Given the description of an element on the screen output the (x, y) to click on. 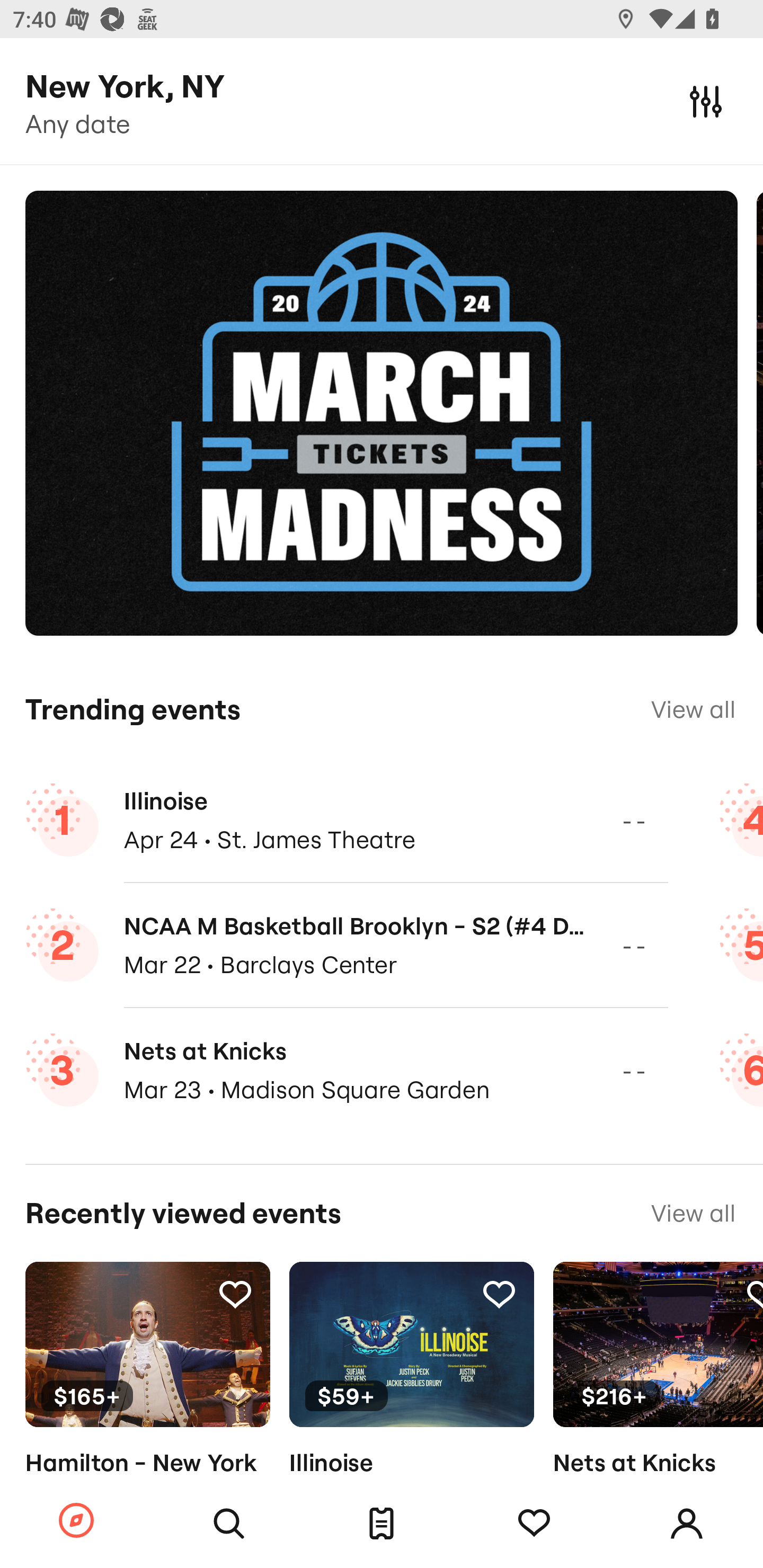
Filters (705, 100)
View all (693, 709)
View all (693, 1213)
Tracking $165+ Hamilton - New York Tomorrow · 7 PM (147, 1399)
Tracking $59+ Illinoise Wed, Apr 24, 8 PM (411, 1399)
Tracking $216+ Nets at Knicks Sat, Mar 23, 1 PM (658, 1399)
Tracking (234, 1293)
Tracking (498, 1293)
Tracking (753, 1293)
Browse (76, 1521)
Search (228, 1523)
Tickets (381, 1523)
Tracking (533, 1523)
Account (686, 1523)
View all (693, 1566)
